Given the description of an element on the screen output the (x, y) to click on. 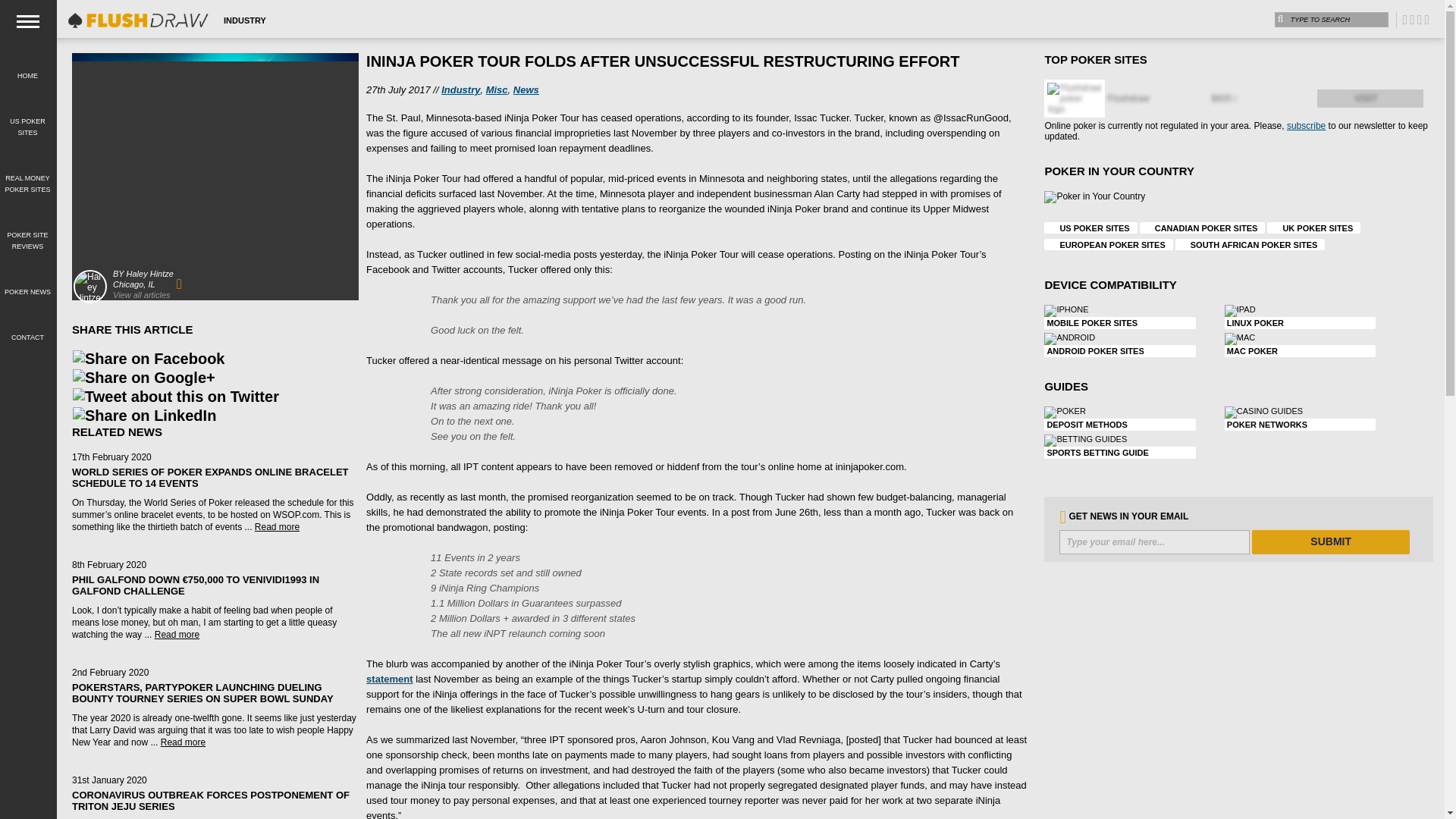
POKER NEWS (28, 282)
Read more (276, 526)
LinkedIn (143, 415)
CONTACT (28, 327)
Facebook (148, 358)
REAL MONEY POKER SITES (28, 174)
INDUSTRY (244, 20)
Twitter (175, 396)
View all articles (141, 294)
SUBMIT (1330, 541)
